Given the description of an element on the screen output the (x, y) to click on. 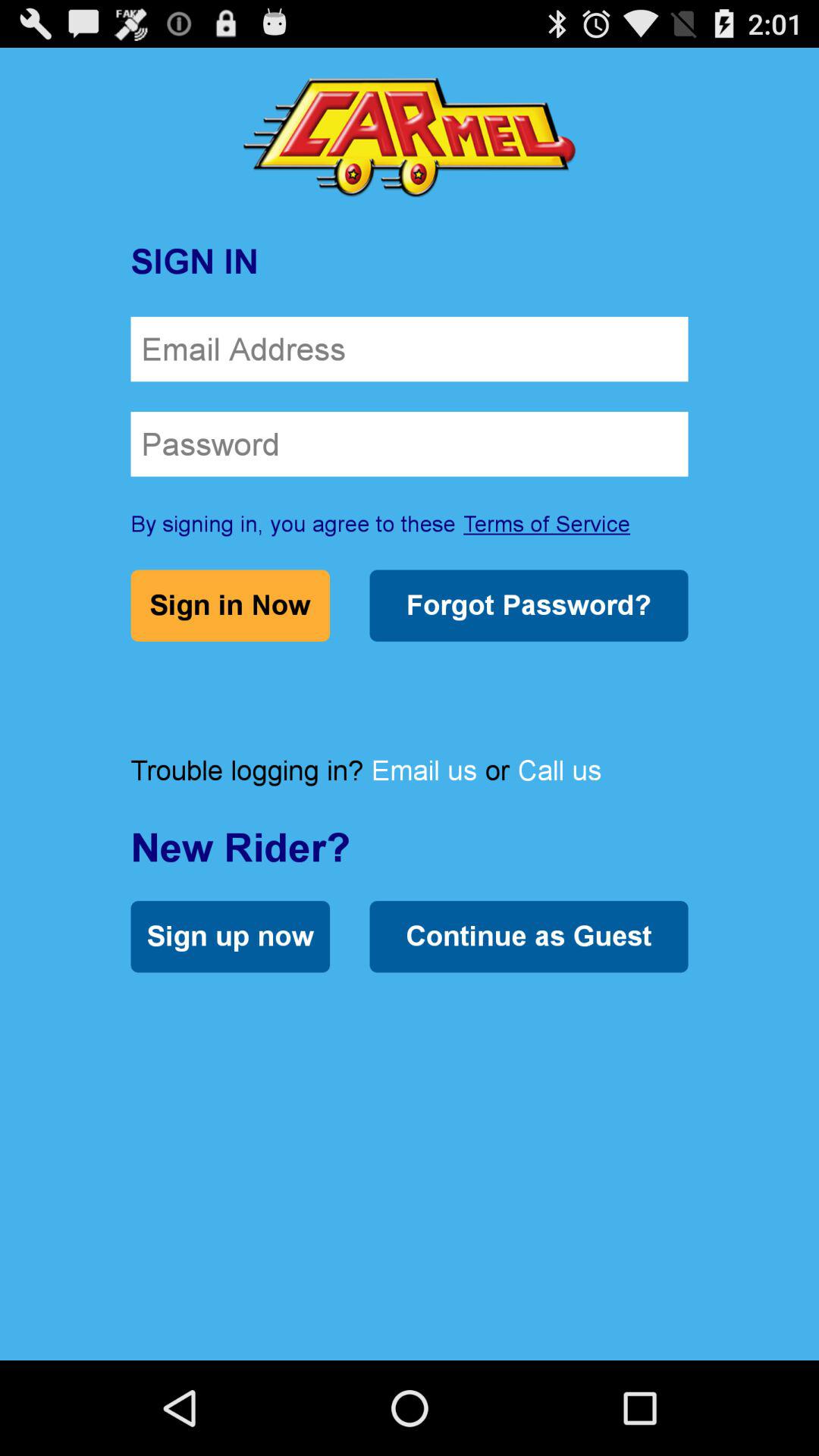
tap the item below the forgot password? (424, 770)
